Given the description of an element on the screen output the (x, y) to click on. 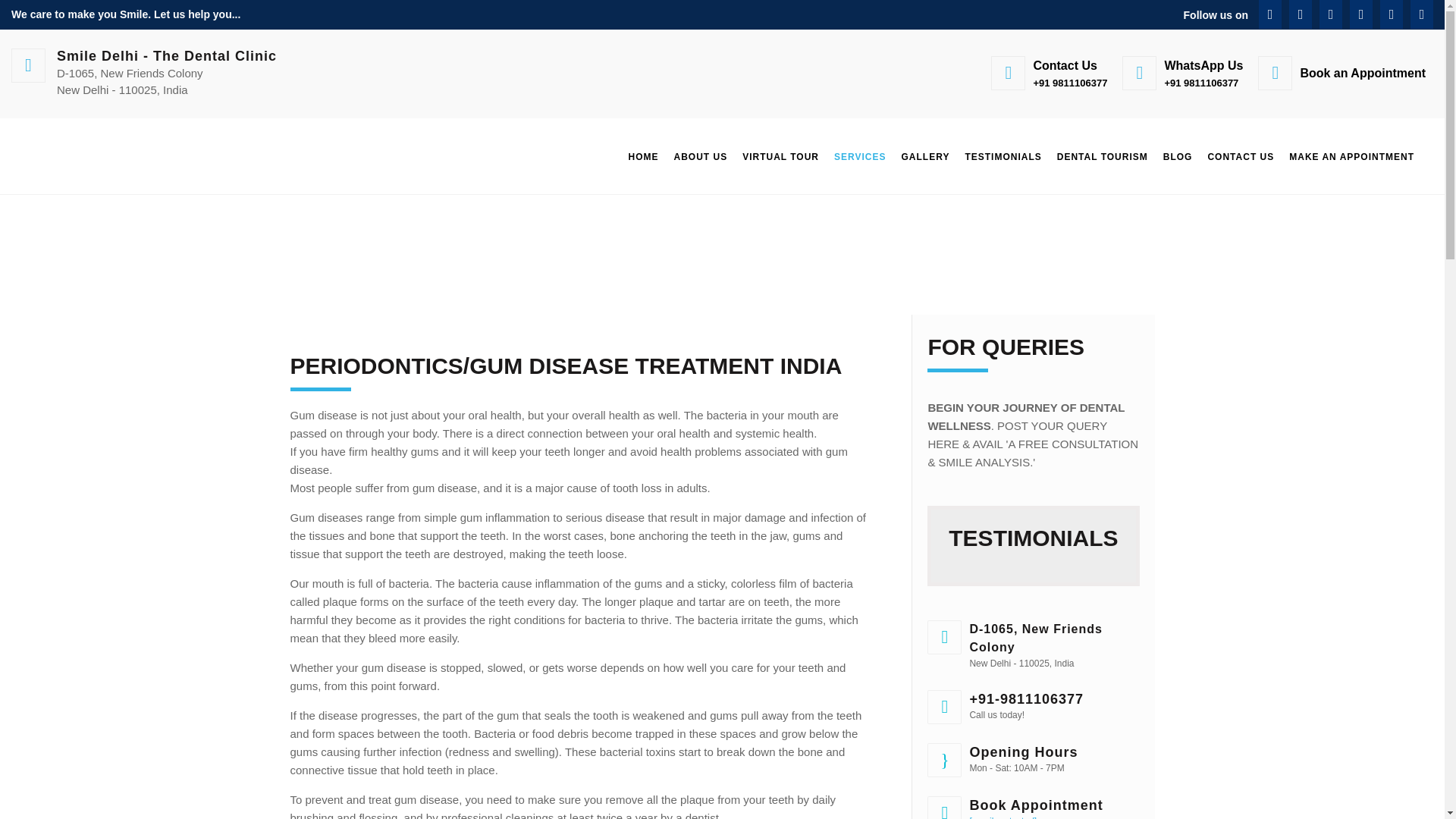
Book an Appointment (1341, 73)
SERVICES (860, 156)
Best Dentists in South Delhi (700, 156)
TESTIMONIALS (1002, 156)
Gallery (925, 156)
Virtual Tour (781, 156)
GALLERY (925, 156)
HOME (642, 156)
Dental Services in India (860, 156)
Dental Clinic in Delhi (642, 156)
ABOUT US (700, 156)
VIRTUAL TOUR (781, 156)
